Given the description of an element on the screen output the (x, y) to click on. 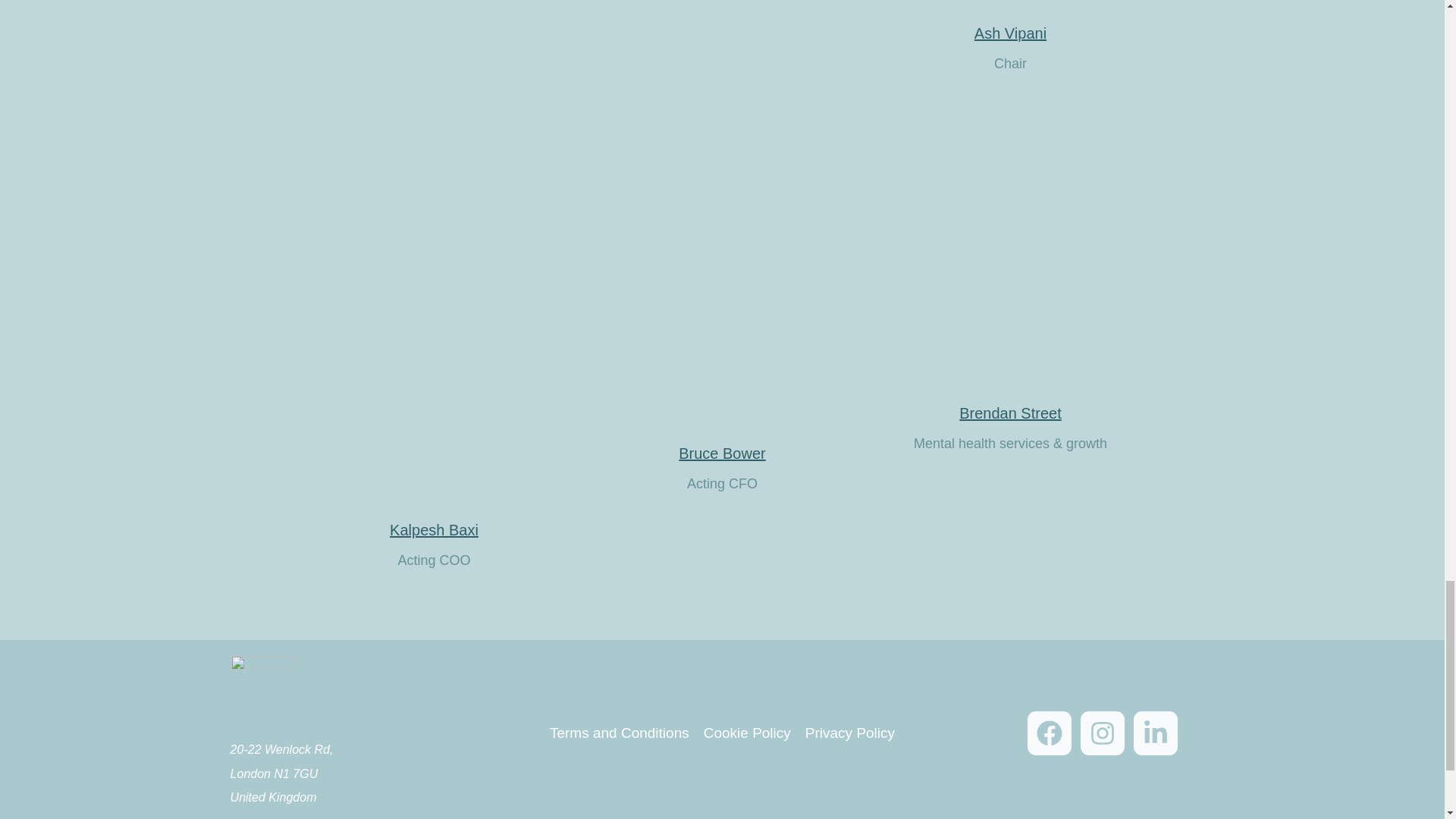
Cookie Policy (746, 732)
Terms and Conditions (622, 732)
Privacy Policy (846, 732)
Ash Vipani (1010, 33)
Brendan Street (1010, 412)
Kalpesh Baxi (434, 529)
Bruce Bower (721, 453)
Cookie policy (746, 732)
Privacy Policy (846, 732)
